Given the description of an element on the screen output the (x, y) to click on. 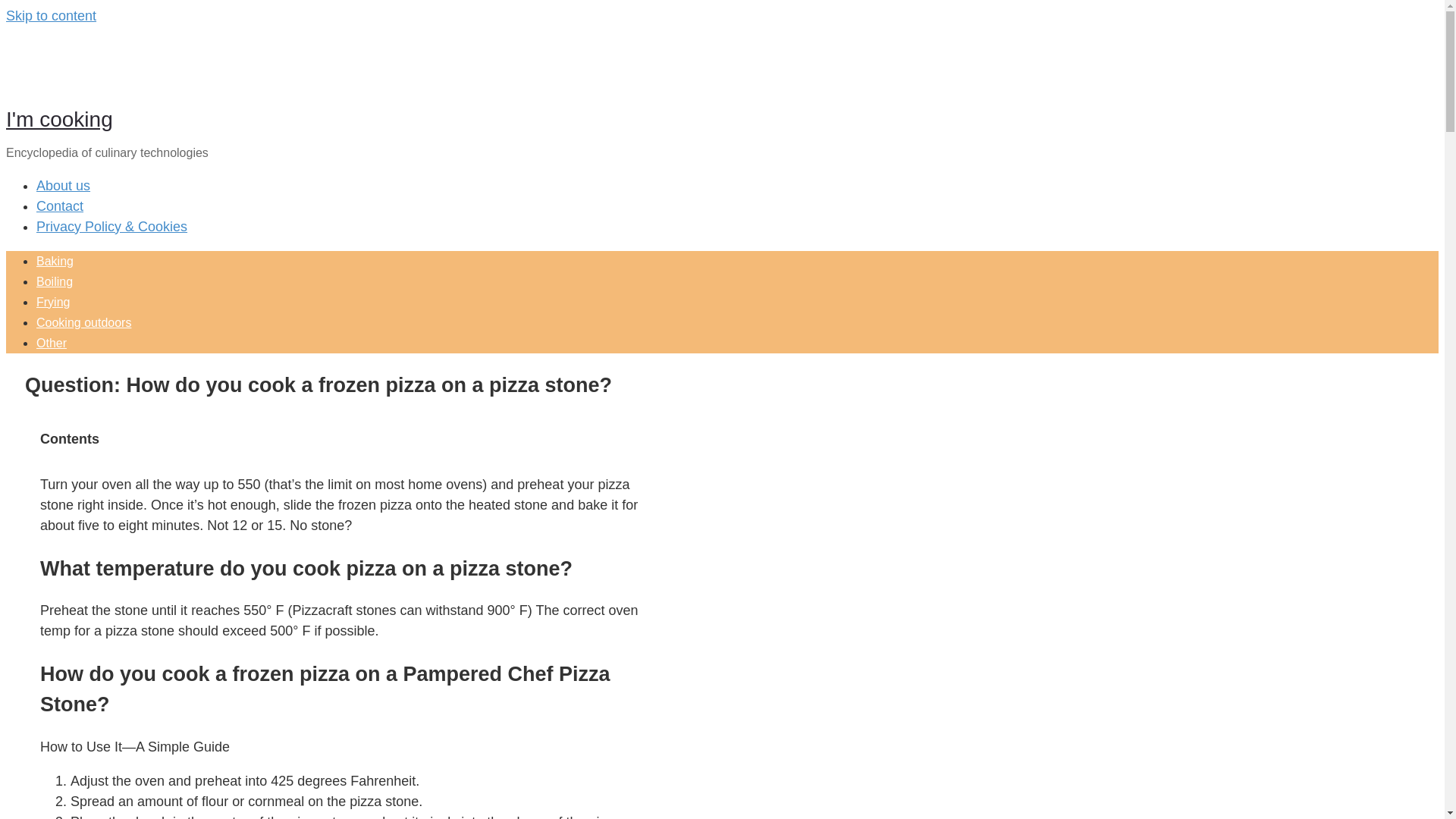
Other (51, 342)
Baking (55, 260)
Contact (59, 206)
Skip to content (50, 15)
Frying (52, 301)
I'm cooking (59, 119)
About us (63, 185)
Boiling (54, 281)
